Given the description of an element on the screen output the (x, y) to click on. 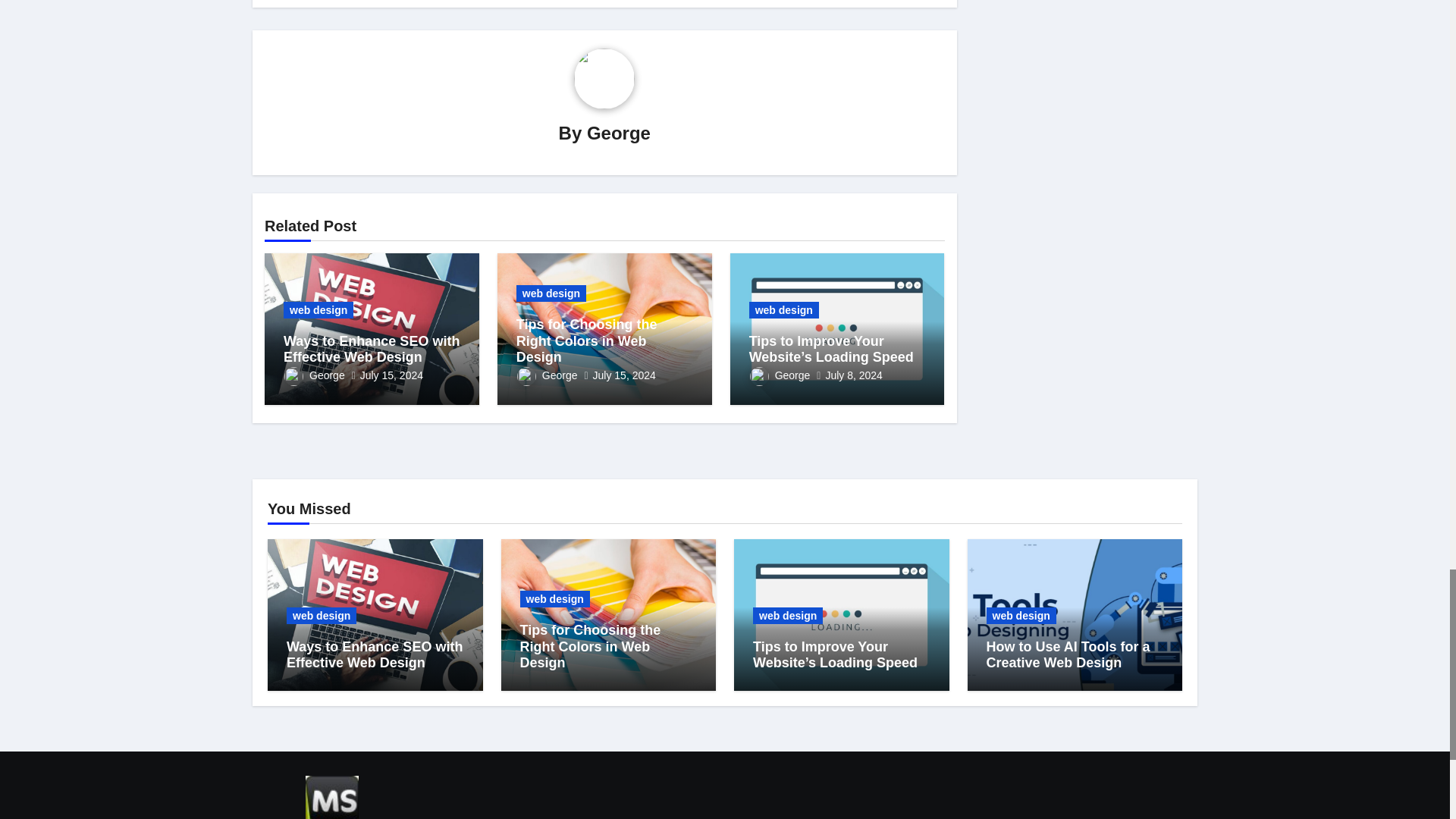
Permalink to: How to Use AI Tools for a Creative Web Design (1067, 654)
Permalink to: Ways to Enhance SEO with Effective Web Design (374, 654)
Permalink to: Ways to Enhance SEO with Effective Web Design (371, 349)
